Given the description of an element on the screen output the (x, y) to click on. 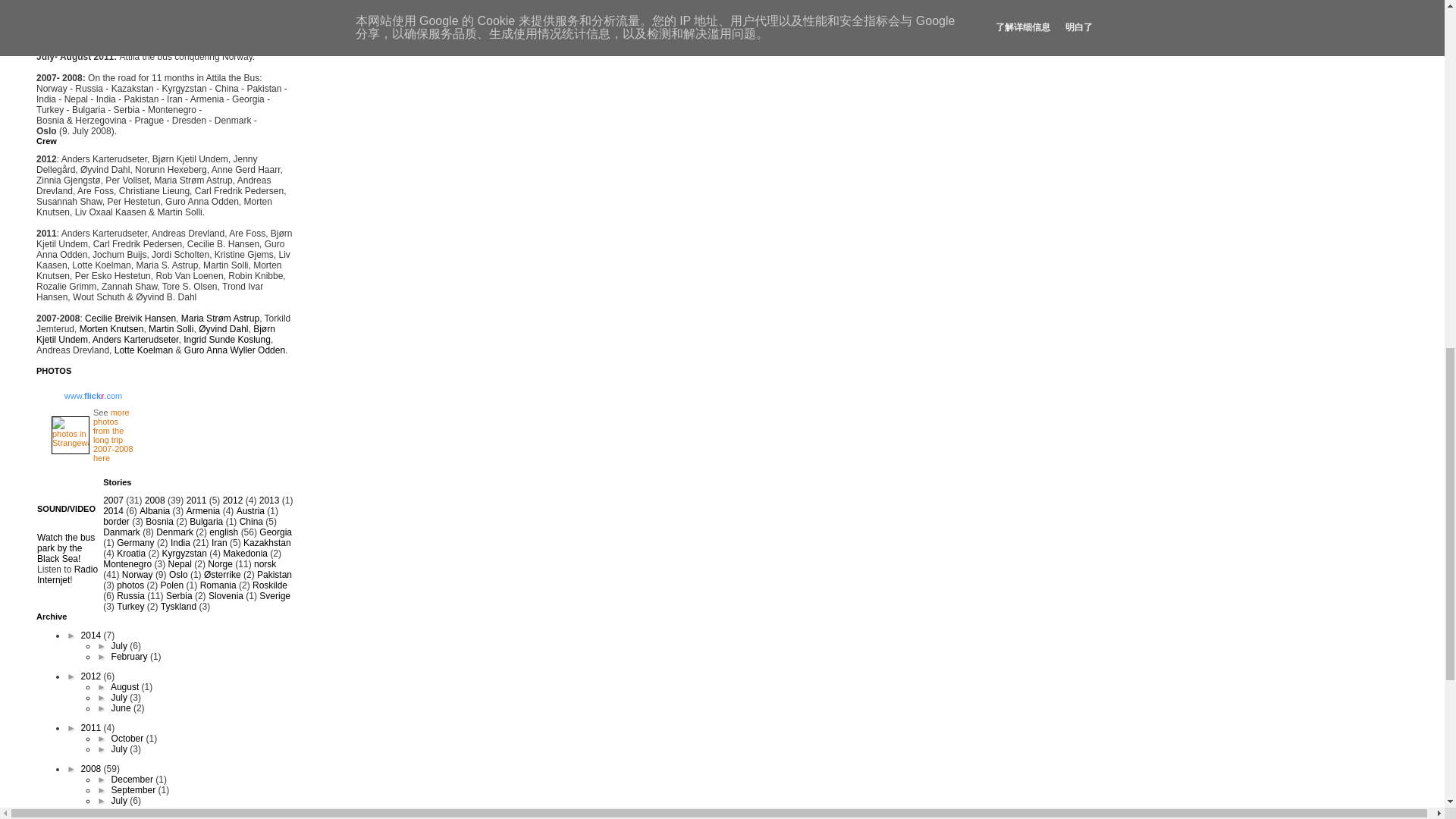
2008 (154, 500)
2007 (113, 500)
2013 (269, 500)
2011 (196, 500)
2012 (232, 500)
Martin Solli (170, 328)
Watch the bus park by the Black Sea! (65, 548)
Guro Anna Wyller Odden (234, 349)
Armenia (203, 511)
2014 (113, 511)
Ingrid Sunde Koslung (226, 339)
Morten Knutsen (112, 328)
Radio Internjet (67, 574)
Lotte Koelman (144, 349)
Anders Karterudseter (135, 339)
